Given the description of an element on the screen output the (x, y) to click on. 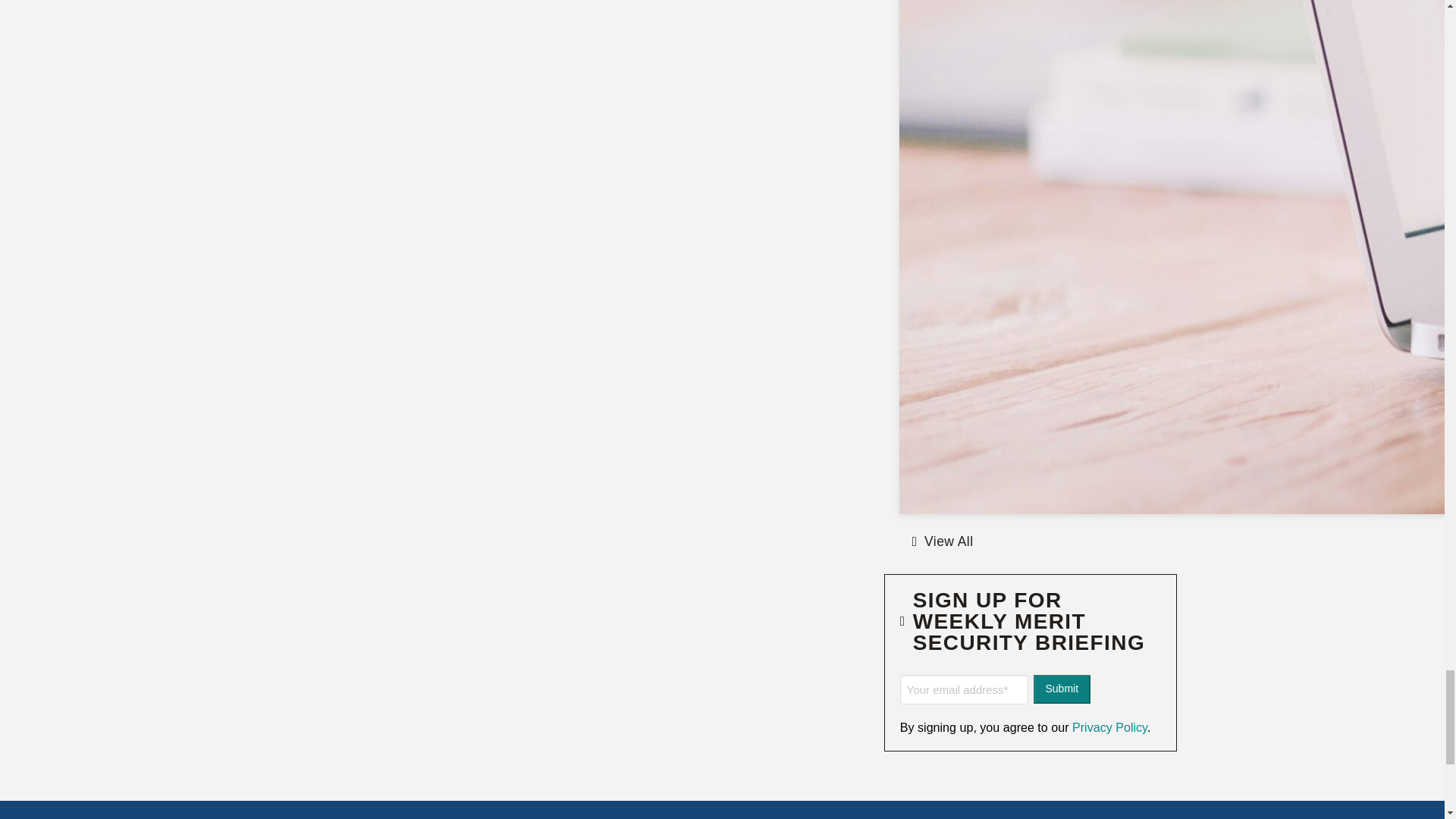
View All (942, 541)
Privacy Policy (1107, 726)
SIGN UP FOR WEEKLY MERIT SECURITY BRIEFING (1030, 631)
Submit (1061, 689)
